Given the description of an element on the screen output the (x, y) to click on. 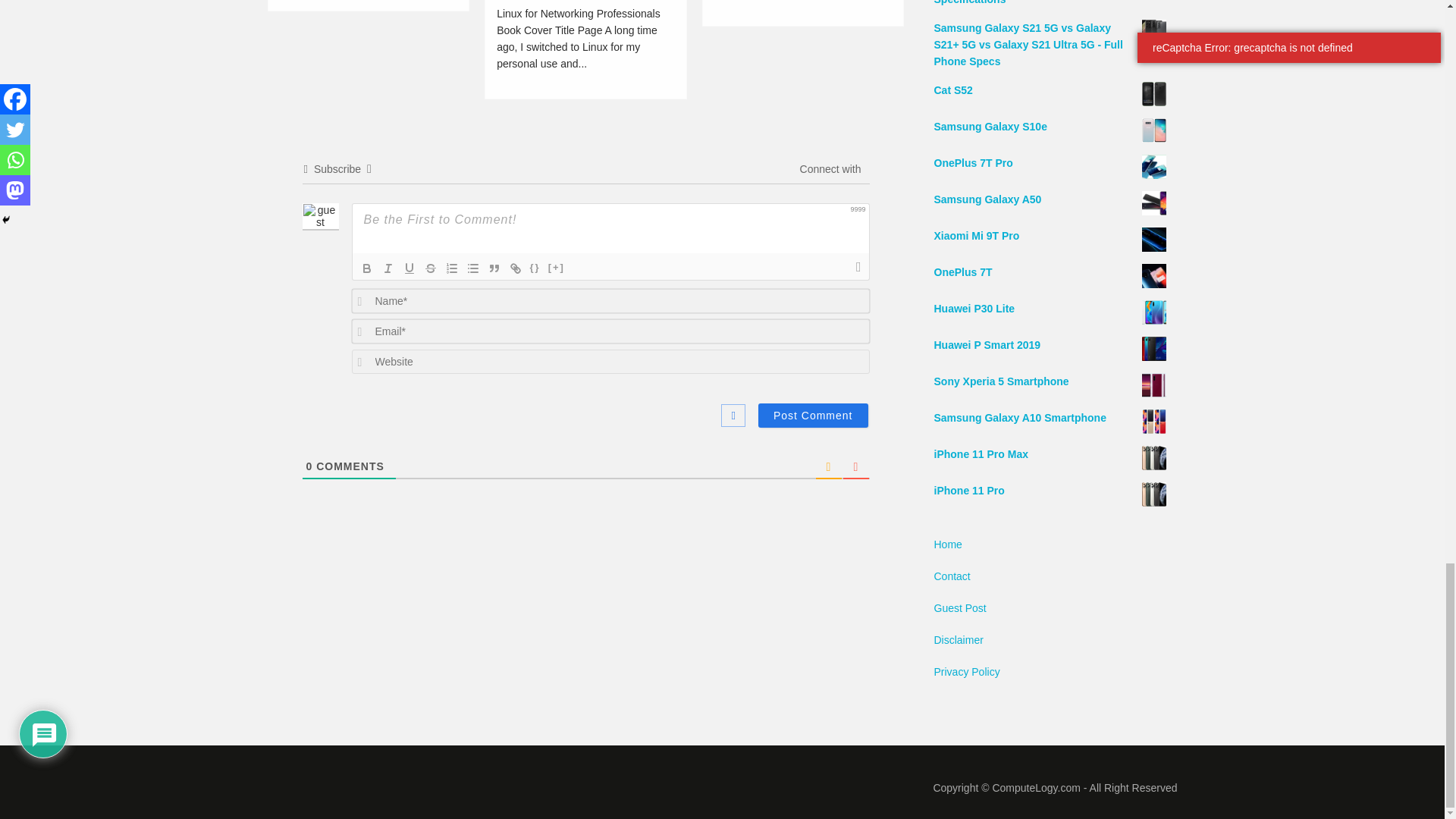
Post Comment (812, 415)
